Given the description of an element on the screen output the (x, y) to click on. 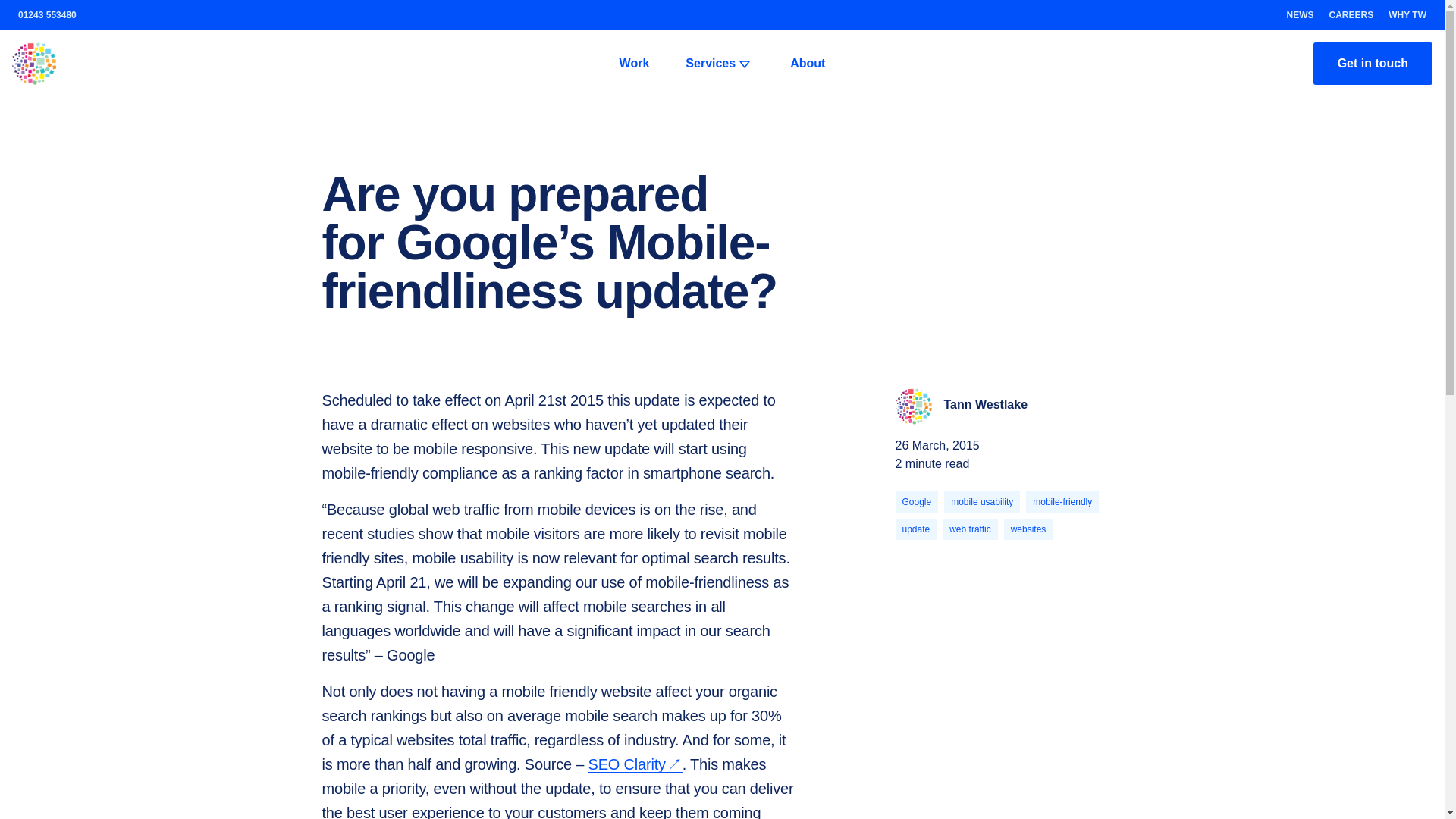
mobile-friendly (1062, 501)
mobile usability (981, 501)
CAREERS (1351, 14)
Go to homepage (300, 63)
Google (916, 501)
About (807, 63)
Get in touch (1372, 63)
web traffic (969, 528)
Work (634, 63)
WHY TW (1406, 14)
update (915, 528)
01243 553480 (46, 14)
websites (1028, 528)
NEWS (1300, 14)
Services (718, 63)
